Given the description of an element on the screen output the (x, y) to click on. 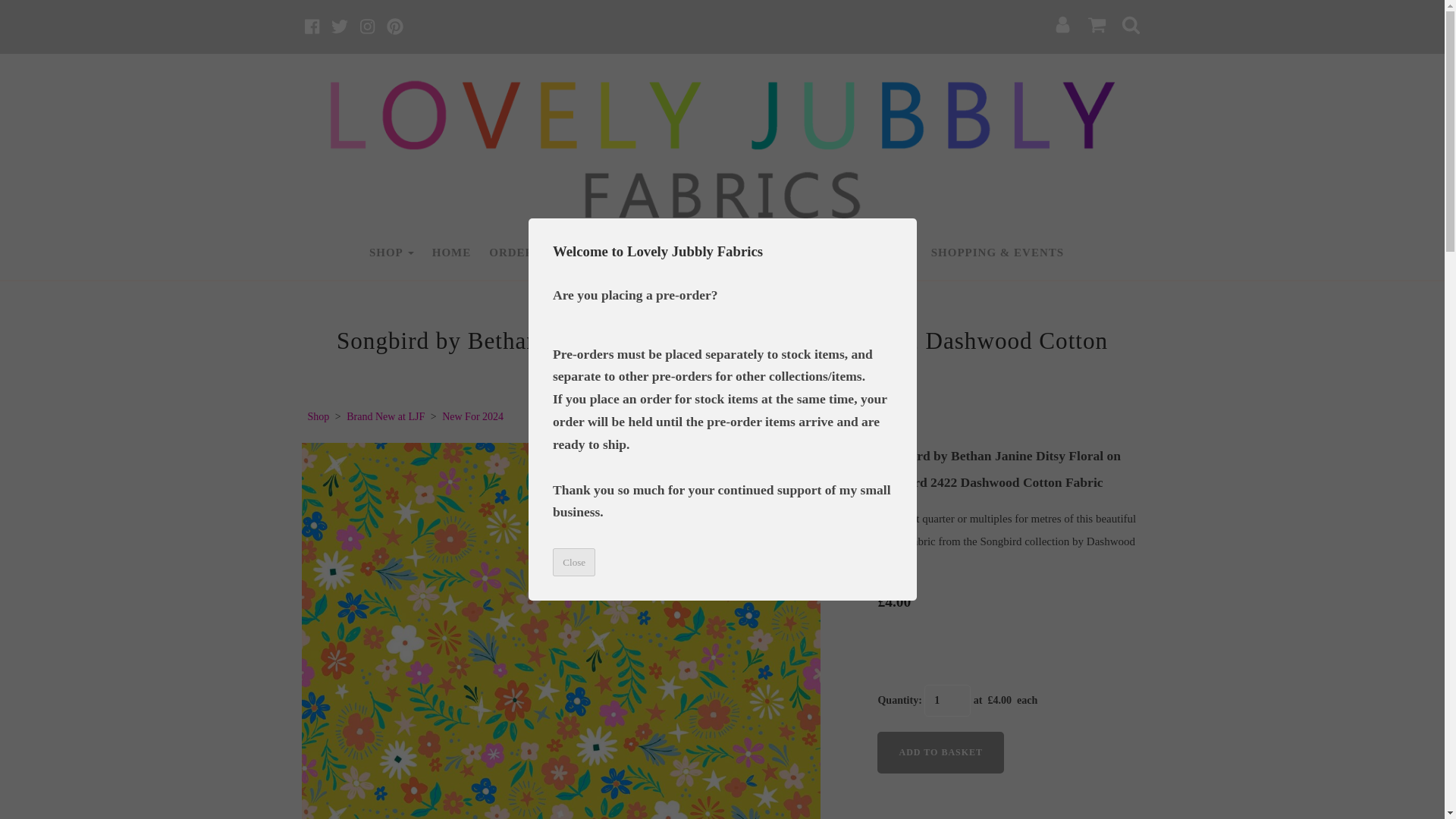
twitter (339, 26)
twitter (339, 26)
pinterest (395, 26)
facebook (311, 26)
SHOP (391, 252)
pinterest (395, 26)
1 (947, 700)
pinterest (395, 26)
instagram (366, 26)
twitter (339, 26)
